Given the description of an element on the screen output the (x, y) to click on. 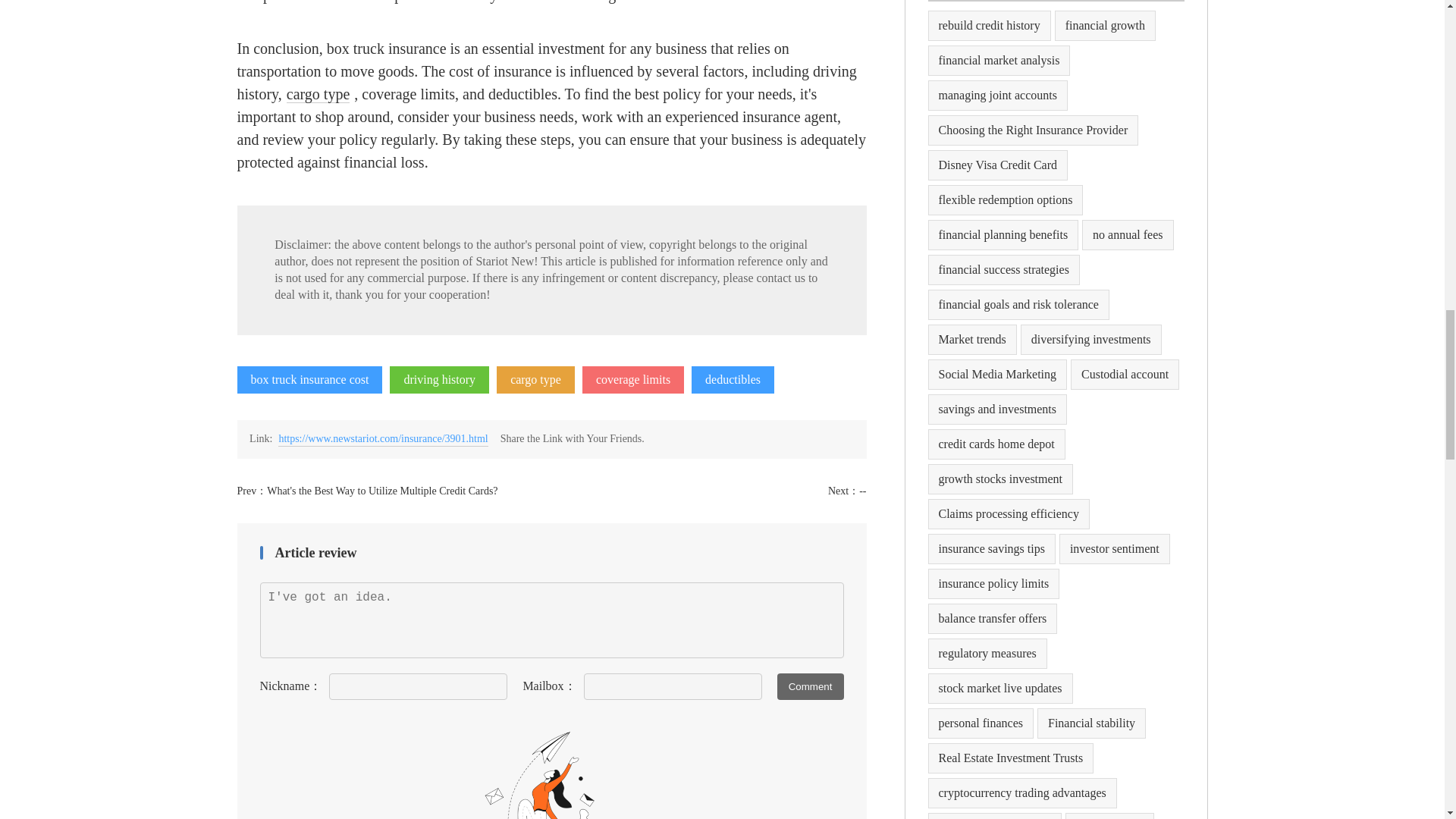
coverage limits (633, 379)
driving history (439, 379)
Comment (810, 686)
cargo type (318, 94)
deductibles (732, 379)
cargo type (318, 94)
What's the Best Way to Utilize Multiple Credit Cards? (381, 490)
driving history (439, 379)
box truck insurance cost (308, 379)
box truck insurance cost (308, 379)
cargo type (535, 379)
deductibles (732, 379)
cargo type (535, 379)
coverage limits (633, 379)
